Given the description of an element on the screen output the (x, y) to click on. 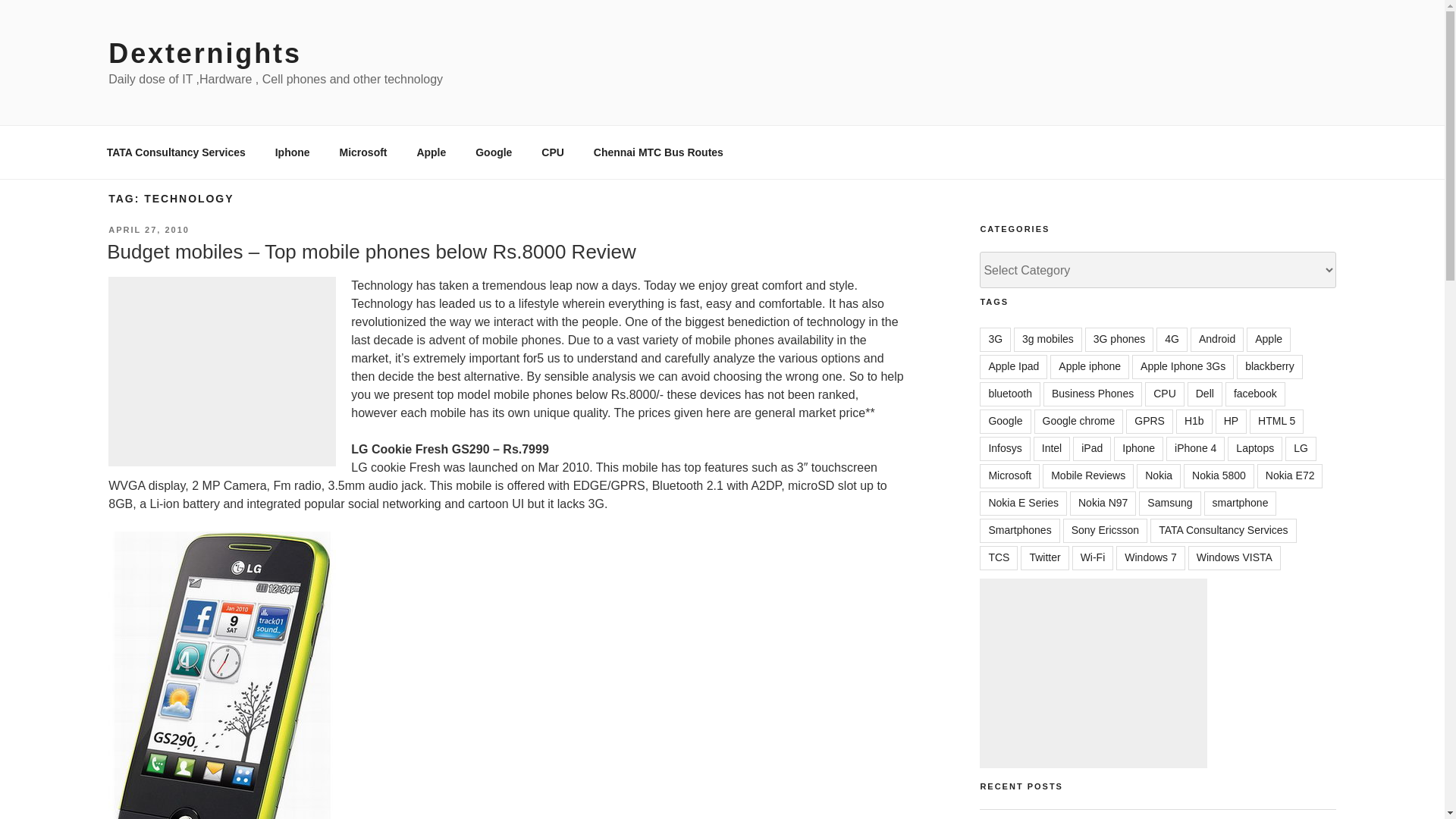
Advertisement (221, 371)
Dexternights (204, 52)
Apple Iphone 3Gs (1182, 366)
Apple (431, 151)
blackberry (1269, 366)
Iphone (292, 151)
CPU (553, 151)
3G (994, 339)
APRIL 27, 2010 (148, 229)
Google (1004, 421)
4G (1172, 339)
Dell (1205, 394)
Apple iphone (1089, 366)
TATA Consultancy Services (176, 151)
Google chrome (1078, 421)
